Given the description of an element on the screen output the (x, y) to click on. 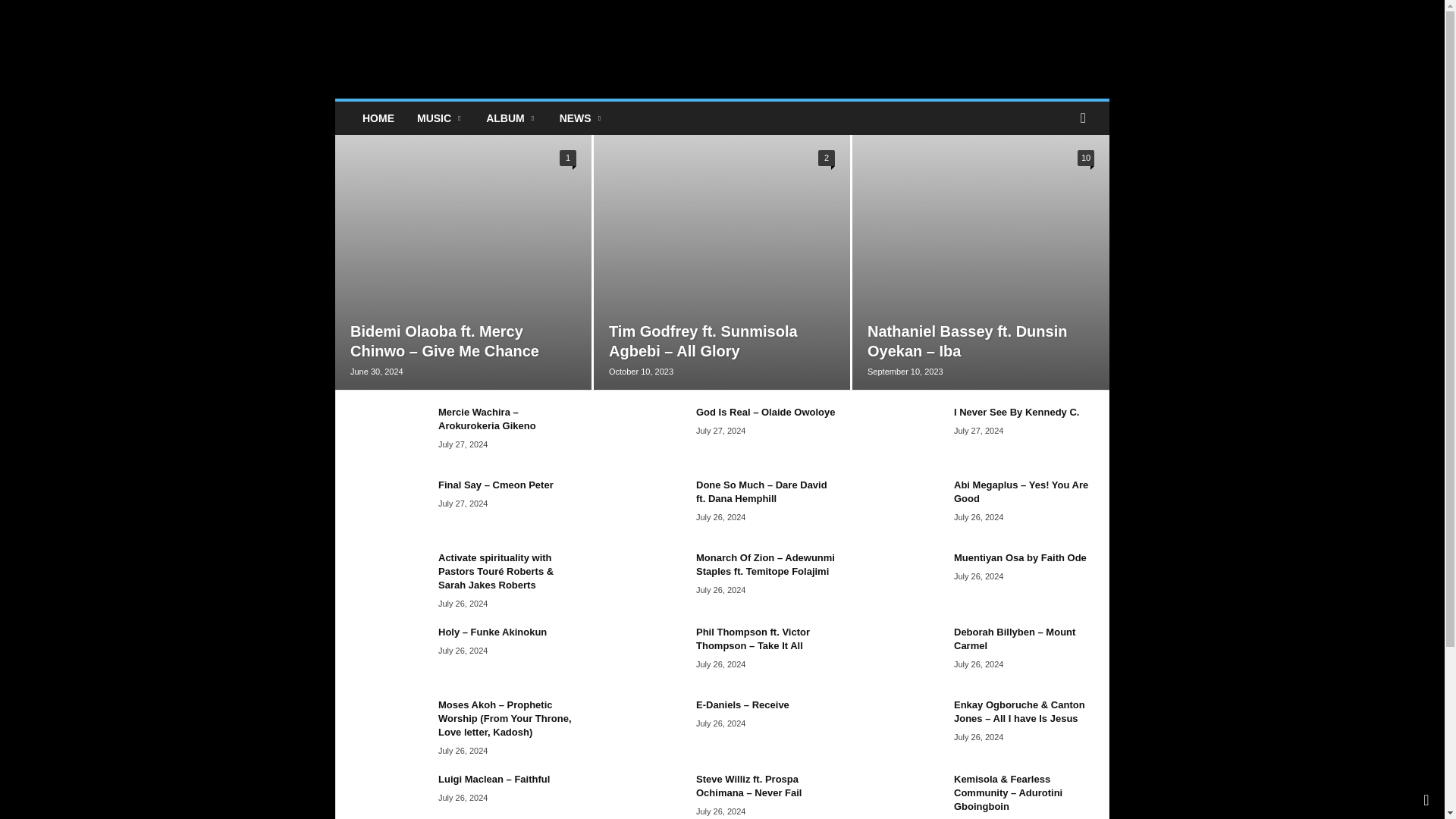
MUSIC (440, 118)
HOME (378, 118)
